Given the description of an element on the screen output the (x, y) to click on. 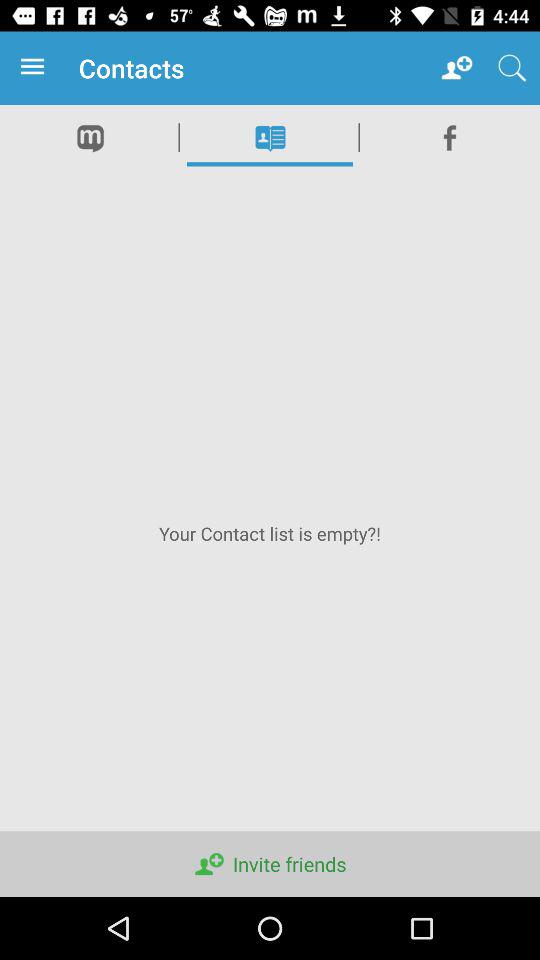
choose app to the right of contacts icon (456, 67)
